Given the description of an element on the screen output the (x, y) to click on. 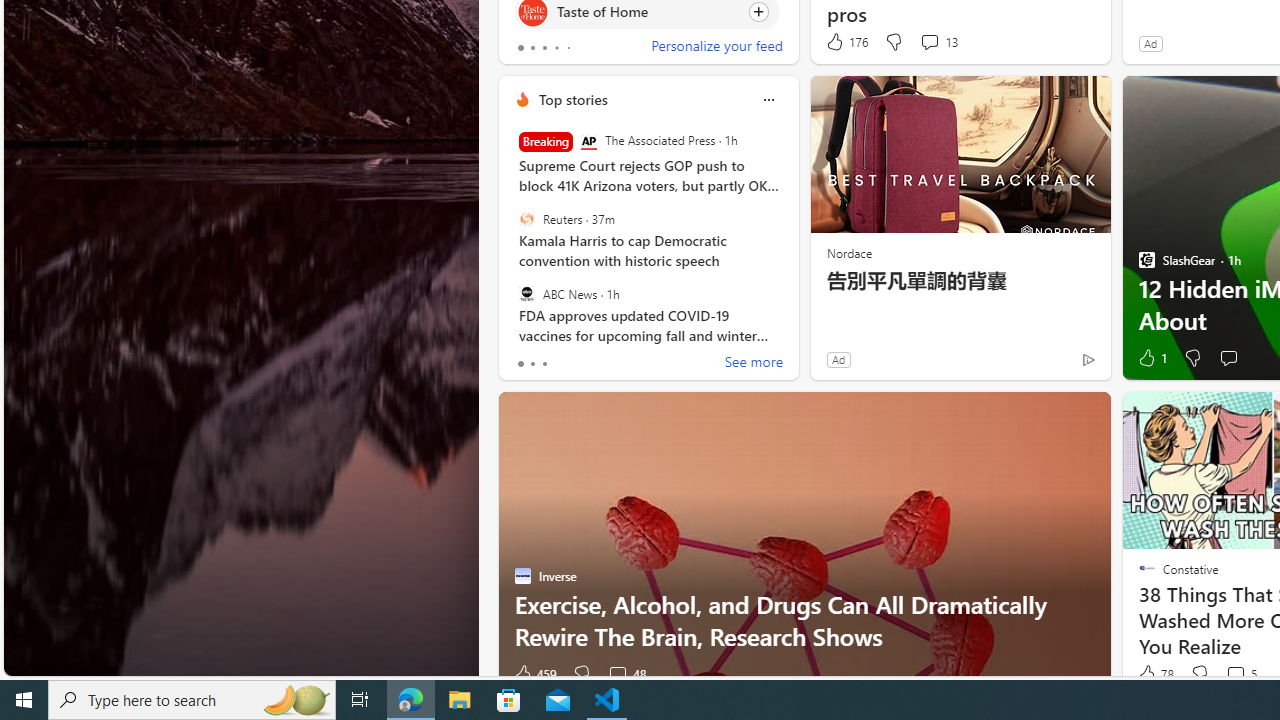
View comments 5 Comment (1240, 674)
View comments 48 Comment (626, 674)
tab-3 (556, 47)
The Associated Press (587, 142)
tab-2 (543, 363)
ABC News (526, 293)
View comments 13 Comment (929, 41)
459 Like (534, 674)
78 Like (1154, 674)
